Given the description of an element on the screen output the (x, y) to click on. 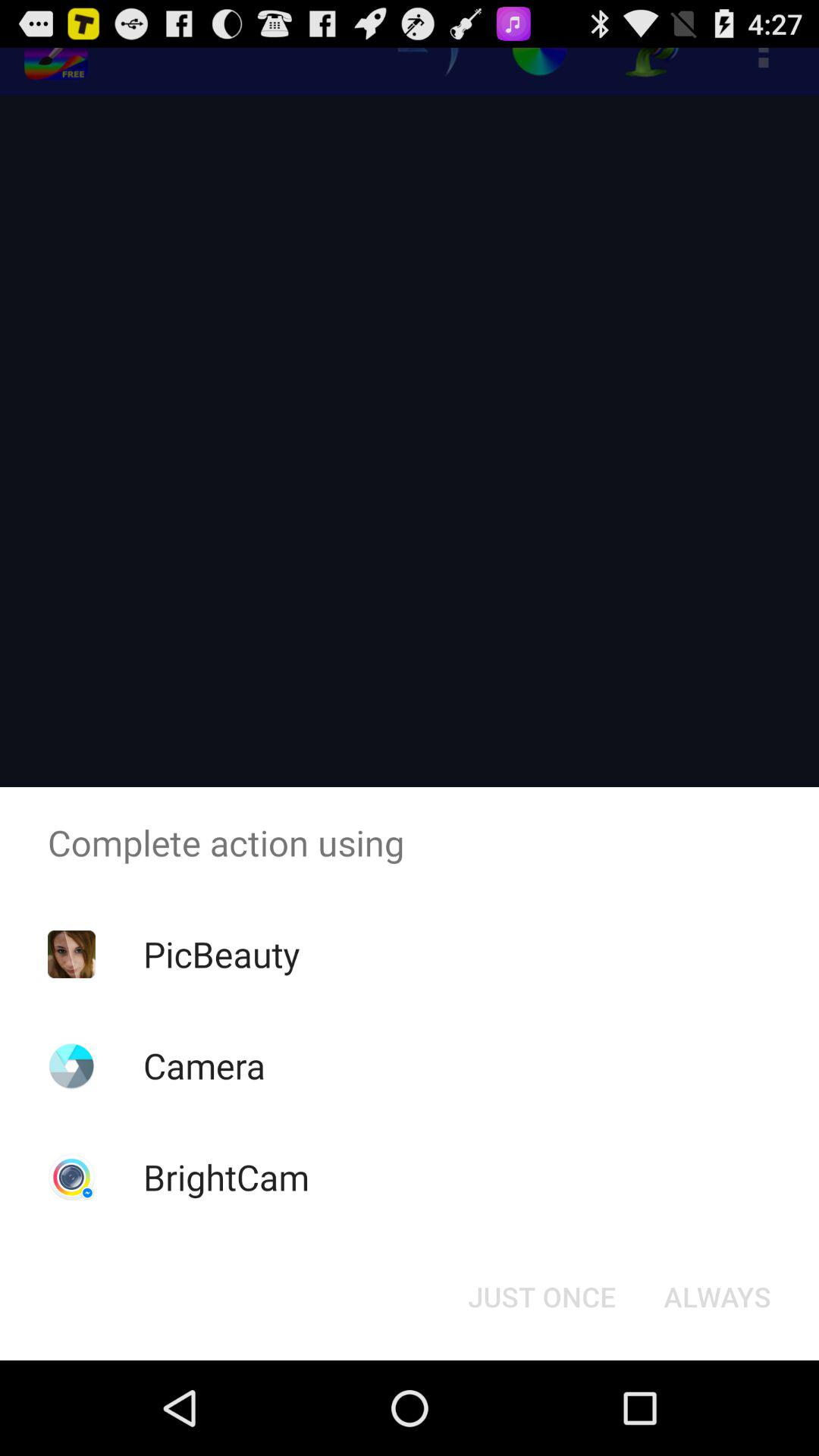
launch the item below complete action using app (717, 1296)
